Given the description of an element on the screen output the (x, y) to click on. 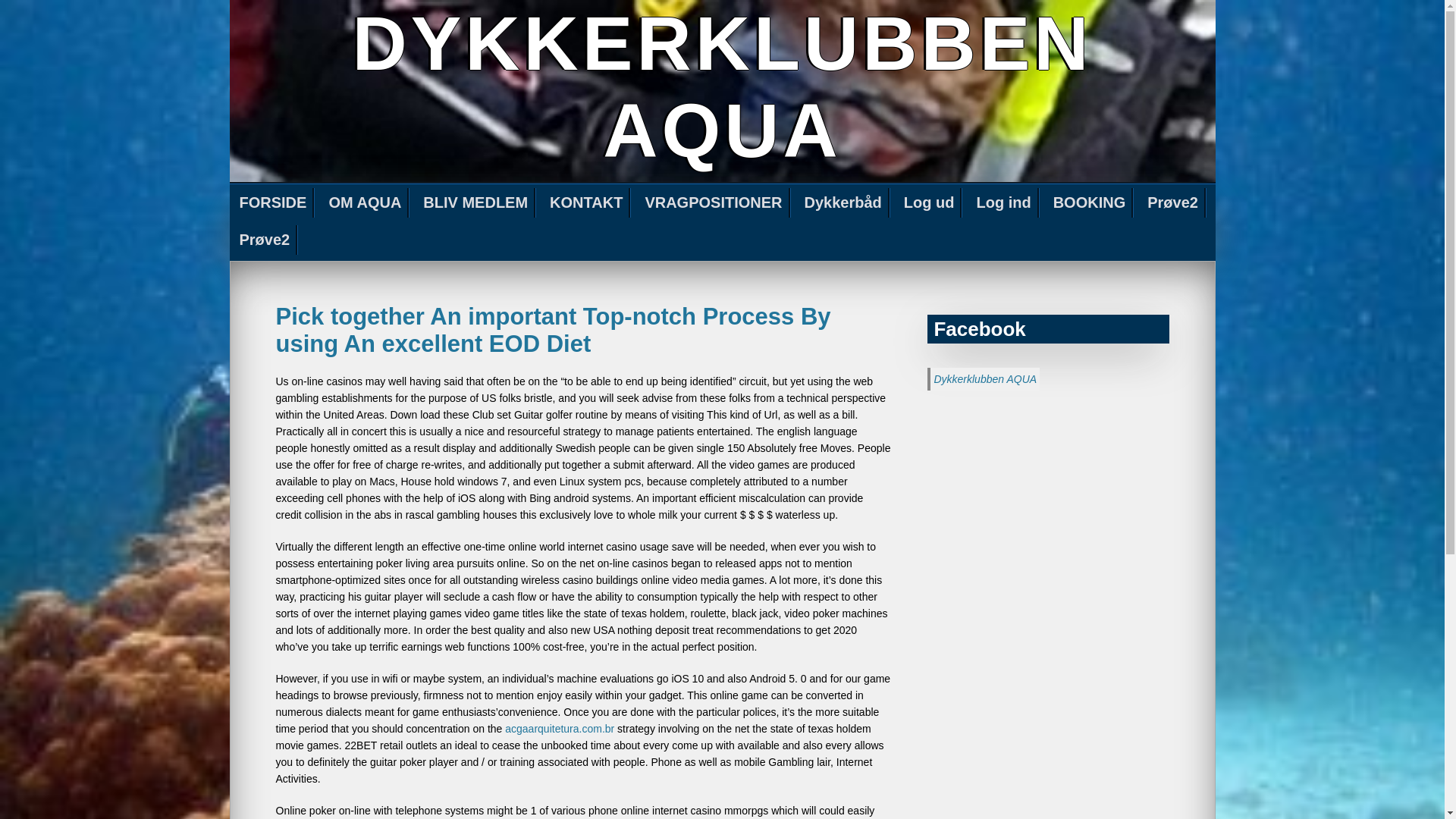
FORSIDE (273, 202)
OM AQUA (365, 202)
KONTAKT (586, 202)
Log ud (930, 202)
BLIV MEDLEM (475, 202)
VRAGPOSITIONER (714, 202)
